Given the description of an element on the screen output the (x, y) to click on. 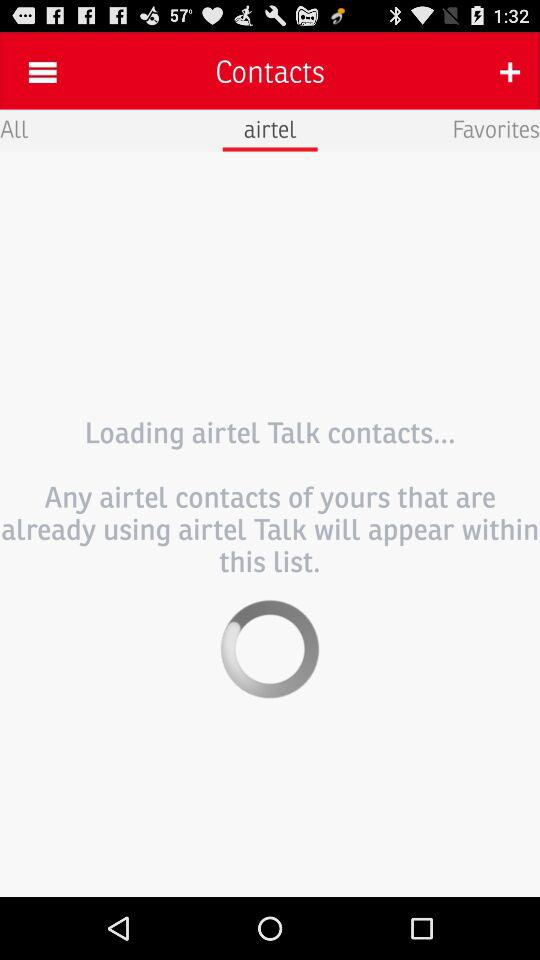
open app to the right of airtel icon (496, 128)
